Given the description of an element on the screen output the (x, y) to click on. 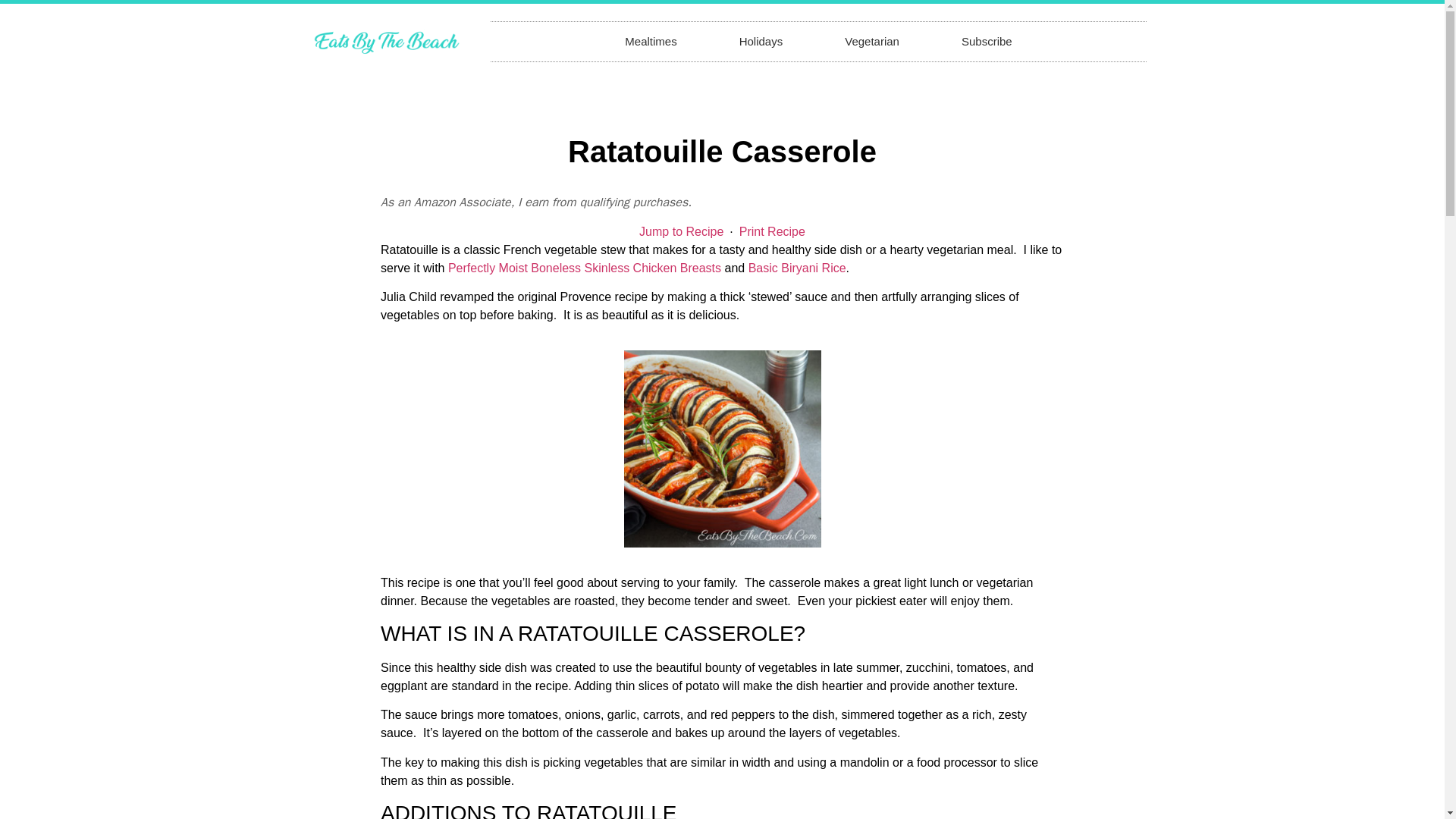
Holidays (760, 41)
Subscribe (986, 41)
Vegetarian (871, 41)
Mealtimes (650, 41)
